Given the description of an element on the screen output the (x, y) to click on. 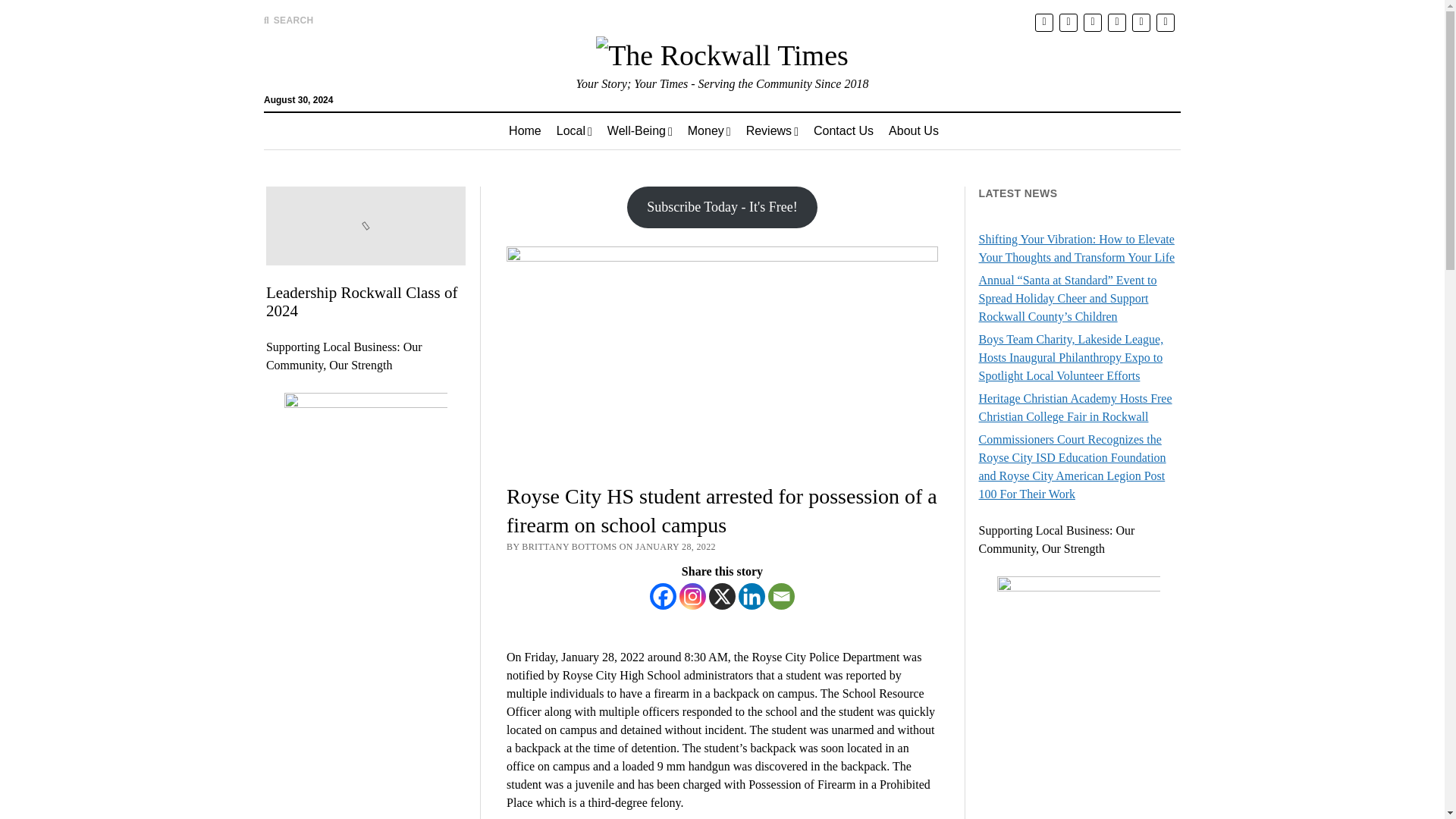
SEARCH (288, 20)
Search (945, 129)
X (722, 596)
Linkedin (751, 596)
About Us (913, 131)
Home (524, 131)
Local (574, 131)
Well-Being (639, 131)
phone (1165, 22)
Money (708, 131)
